Given the description of an element on the screen output the (x, y) to click on. 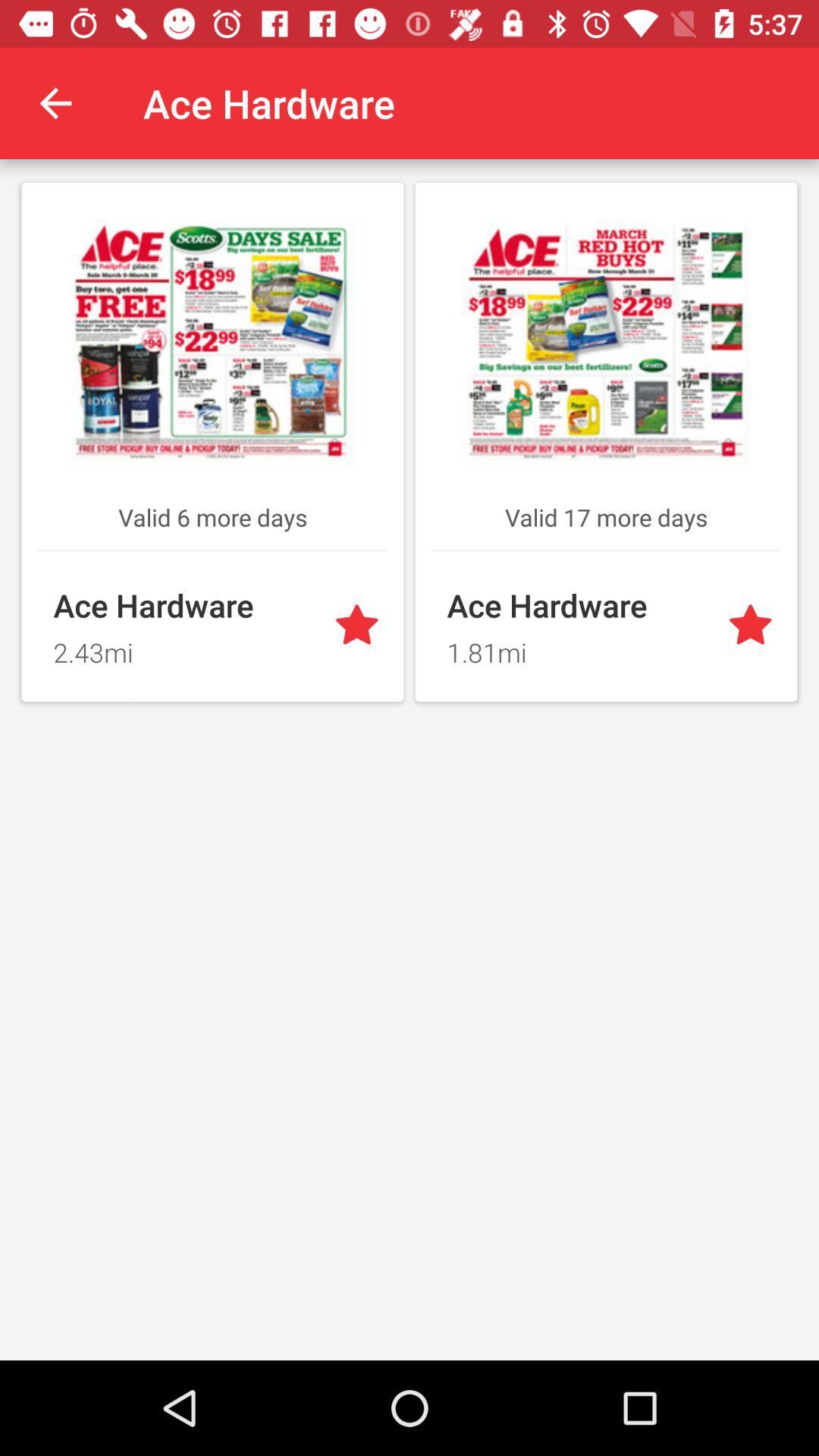
jump until 1.81mi (578, 647)
